Given the description of an element on the screen output the (x, y) to click on. 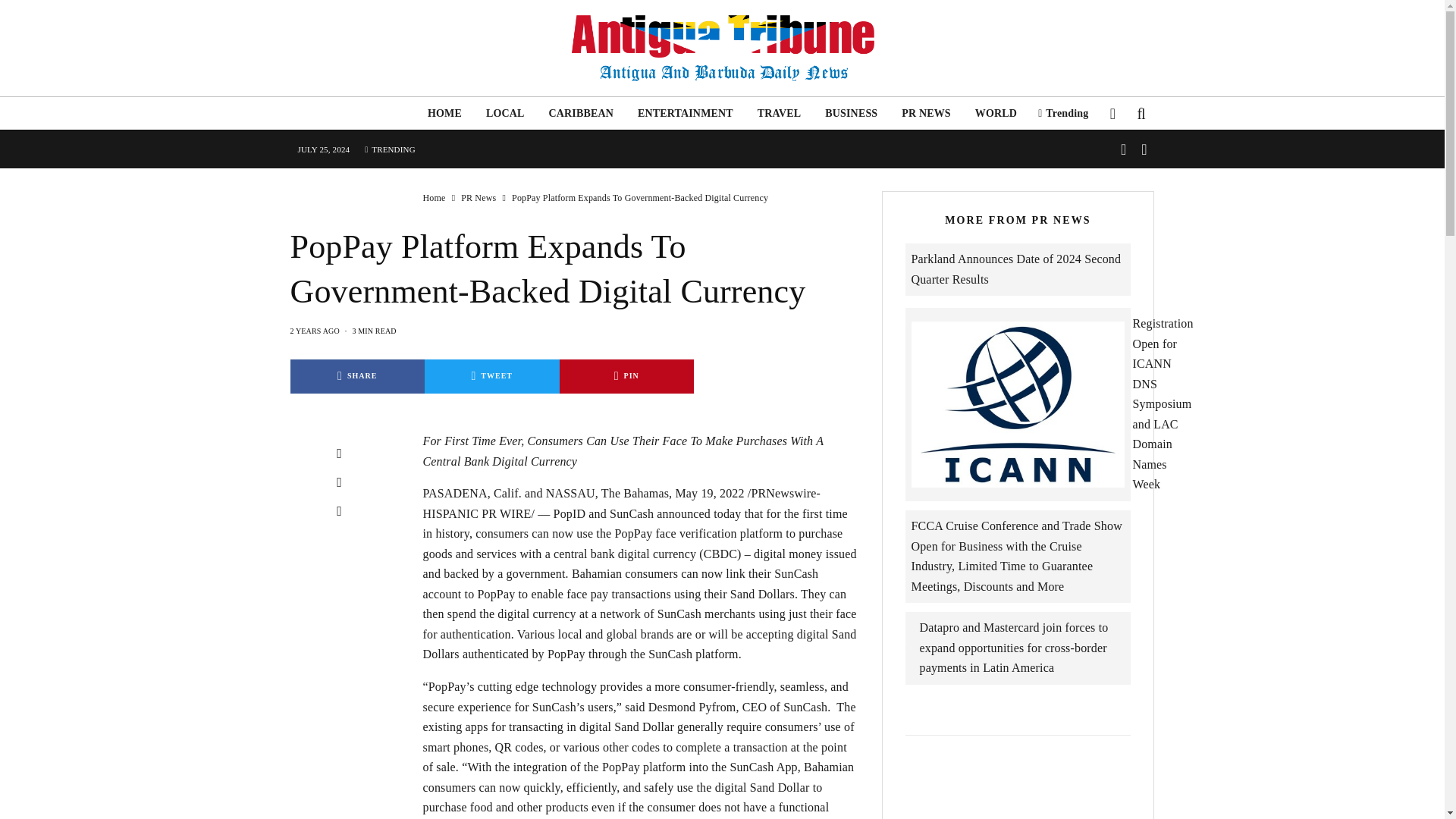
HOME (444, 113)
TRAVEL (779, 113)
CARIBBEAN (581, 113)
ENTERTAINMENT (685, 113)
LOCAL (505, 113)
